Given the description of an element on the screen output the (x, y) to click on. 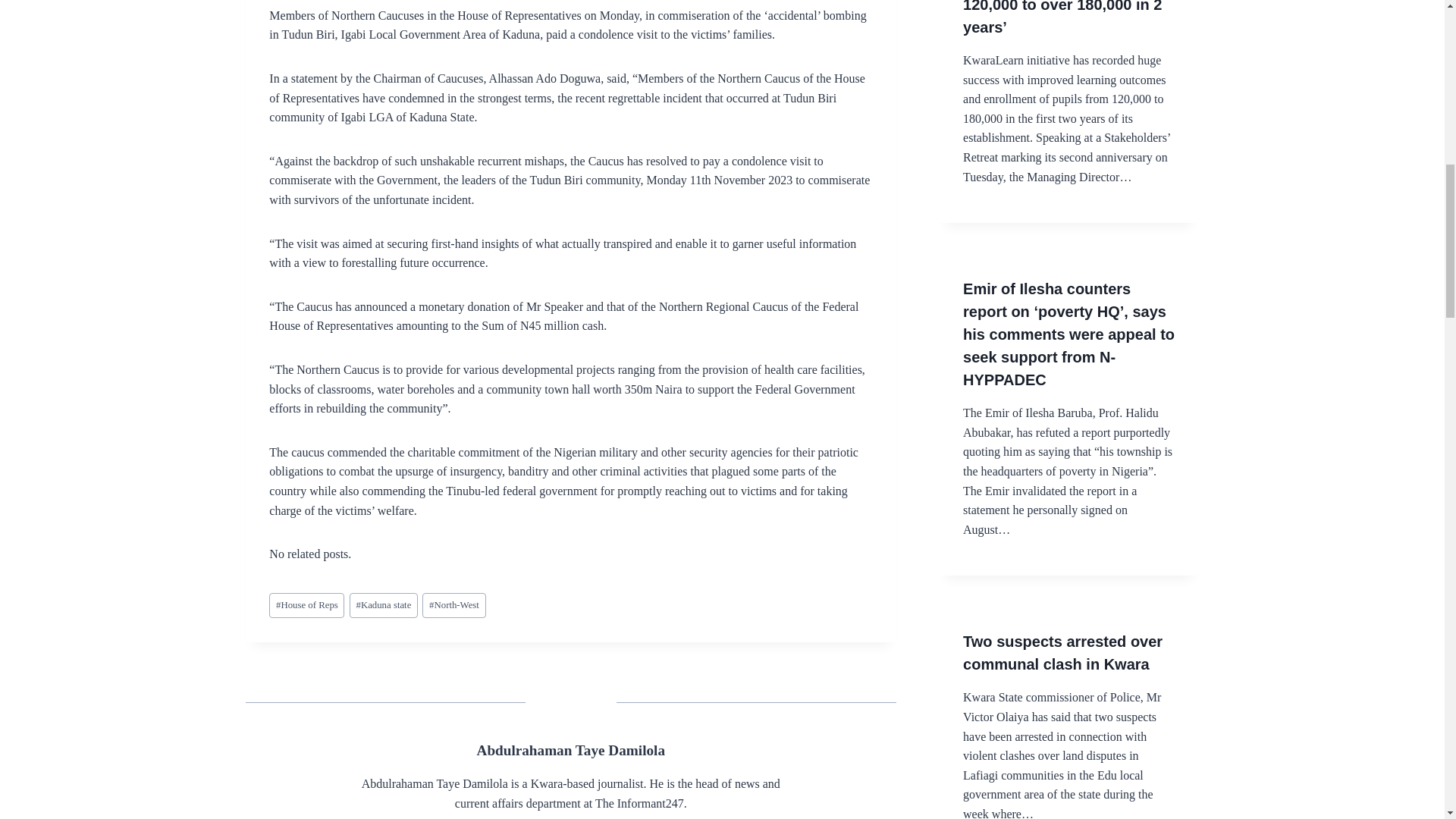
Kaduna state (383, 605)
House of Reps (306, 605)
Abdulrahaman Taye Damilola (571, 750)
North-West (453, 605)
Posts by Abdulrahaman Taye Damilola (571, 750)
